Given the description of an element on the screen output the (x, y) to click on. 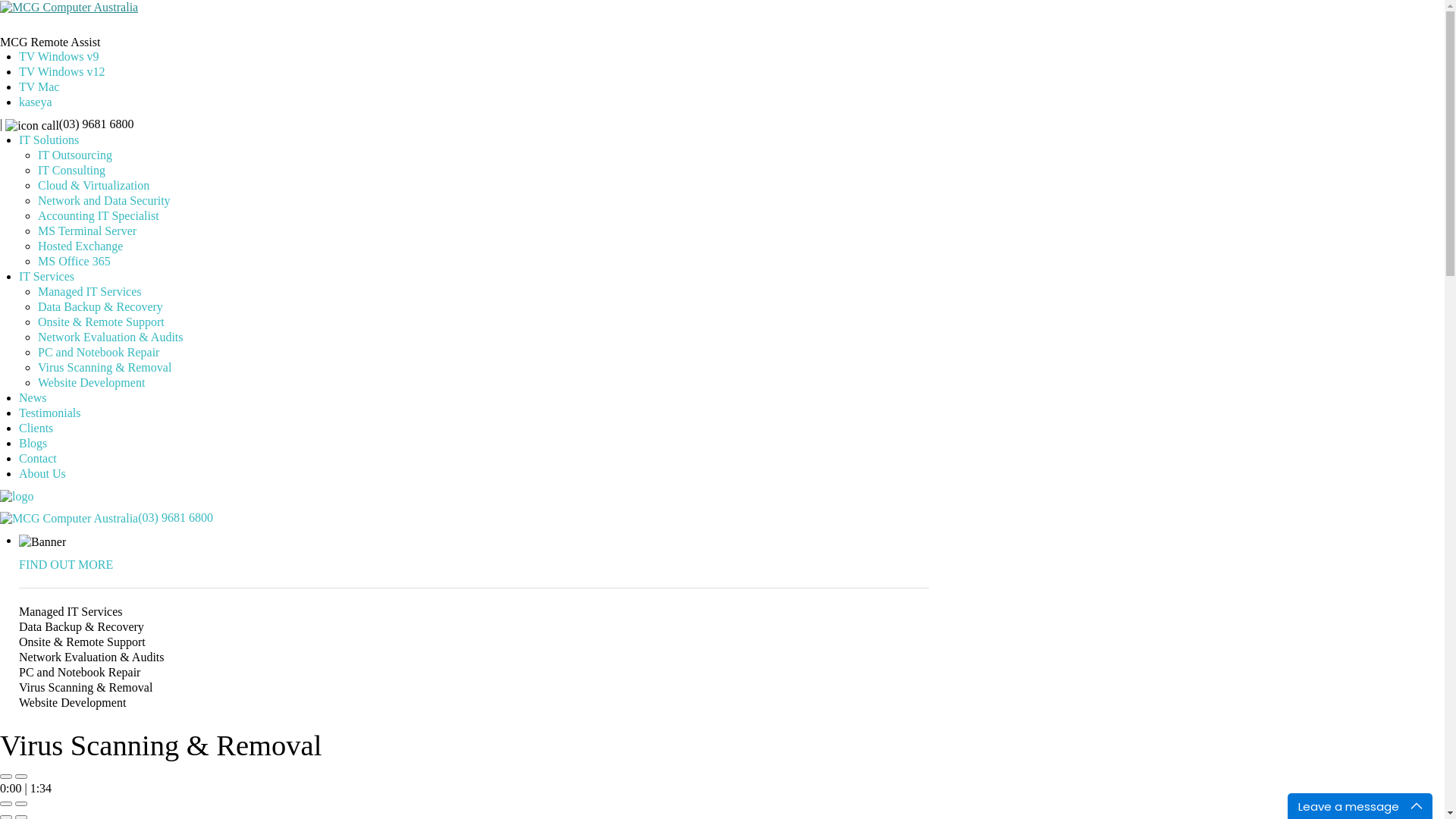
kaseya Element type: text (35, 101)
News Element type: text (32, 397)
TV Windows v9 Element type: text (58, 56)
Onsite & Remote Support Element type: text (473, 641)
Testimonials Element type: text (49, 412)
TV Windows v12 Element type: text (61, 71)
FIND OUT MORE Element type: text (65, 564)
IT Consulting Element type: text (71, 169)
Managed IT Services Element type: text (473, 611)
About Us Element type: text (41, 473)
Maximize Element type: hover (1419, 806)
Hosted Exchange Element type: text (79, 245)
PC and Notebook Repair Element type: text (473, 672)
MCG Computer Australia Element type: hover (69, 518)
Accounting IT Specialist Element type: text (98, 215)
IT Services Element type: text (46, 275)
IT Outsourcing Element type: text (74, 154)
Virus Scanning & Removal Element type: text (473, 687)
Website Development Element type: text (90, 382)
Website Development Element type: text (473, 702)
Blogs Element type: text (32, 442)
Network Evaluation & Audits Element type: text (473, 657)
MS Terminal Server Element type: text (86, 230)
(03) 9681 6800 Element type: text (722, 518)
MS Office 365 Element type: text (73, 260)
Managed IT Services Element type: text (89, 291)
Data Backup & Recovery Element type: text (100, 306)
Contact Element type: text (37, 457)
TV Mac Element type: text (38, 86)
Clients Element type: text (35, 427)
Data Backup & Recovery Element type: text (473, 626)
Virus Scanning & Removal Element type: text (104, 366)
MCG Computer Australia Element type: hover (69, 7)
Network and Data Security Element type: text (103, 200)
Onsite & Remote Support Element type: text (100, 321)
IT Solutions Element type: text (48, 139)
PC and Notebook Repair Element type: text (98, 351)
Cloud & Virtualization Element type: text (93, 184)
Network Evaluation & Audits Element type: text (110, 336)
